Given the description of an element on the screen output the (x, y) to click on. 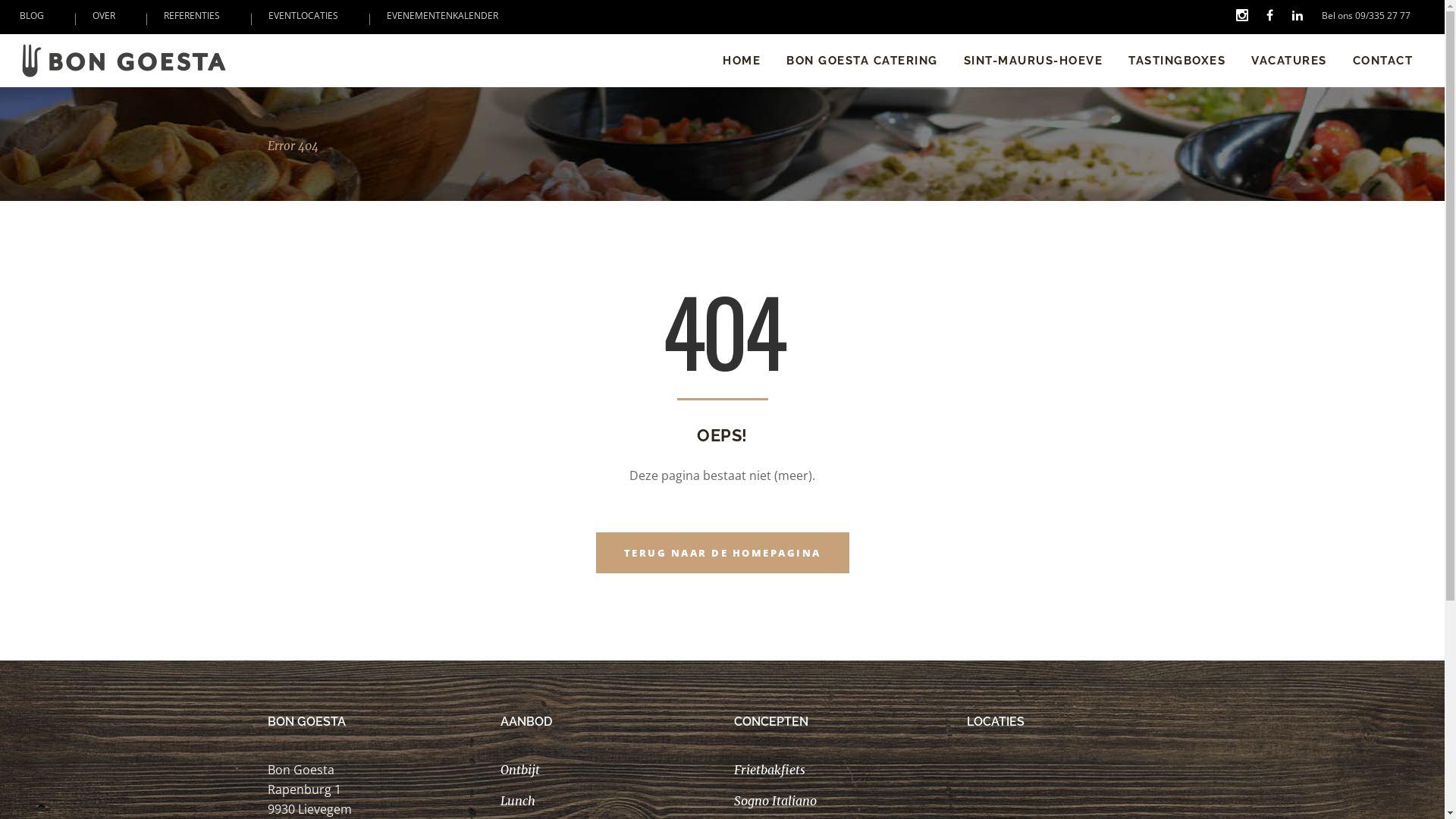
BLOG Element type: text (31, 15)
Frietbakfiets Element type: text (769, 769)
Sogno Italiano Element type: text (775, 800)
REFERENTIES Element type: text (191, 15)
VACATURES Element type: text (1288, 60)
Ontbijt Element type: text (519, 769)
Lunch Element type: text (517, 800)
TERUG NAAR DE HOMEPAGINA Element type: text (722, 552)
HOME Element type: text (741, 60)
09/335 27 77 Element type: text (1382, 15)
BON GOESTA CATERING Element type: text (861, 60)
TASTINGBOXES Element type: text (1176, 60)
OVER Element type: text (103, 15)
EVENTLOCATIES Element type: text (303, 15)
CONTACT Element type: text (1382, 60)
EVENEMENTENKALENDER Element type: text (442, 15)
SINT-MAURUS-HOEVE Element type: text (1033, 60)
